Given the description of an element on the screen output the (x, y) to click on. 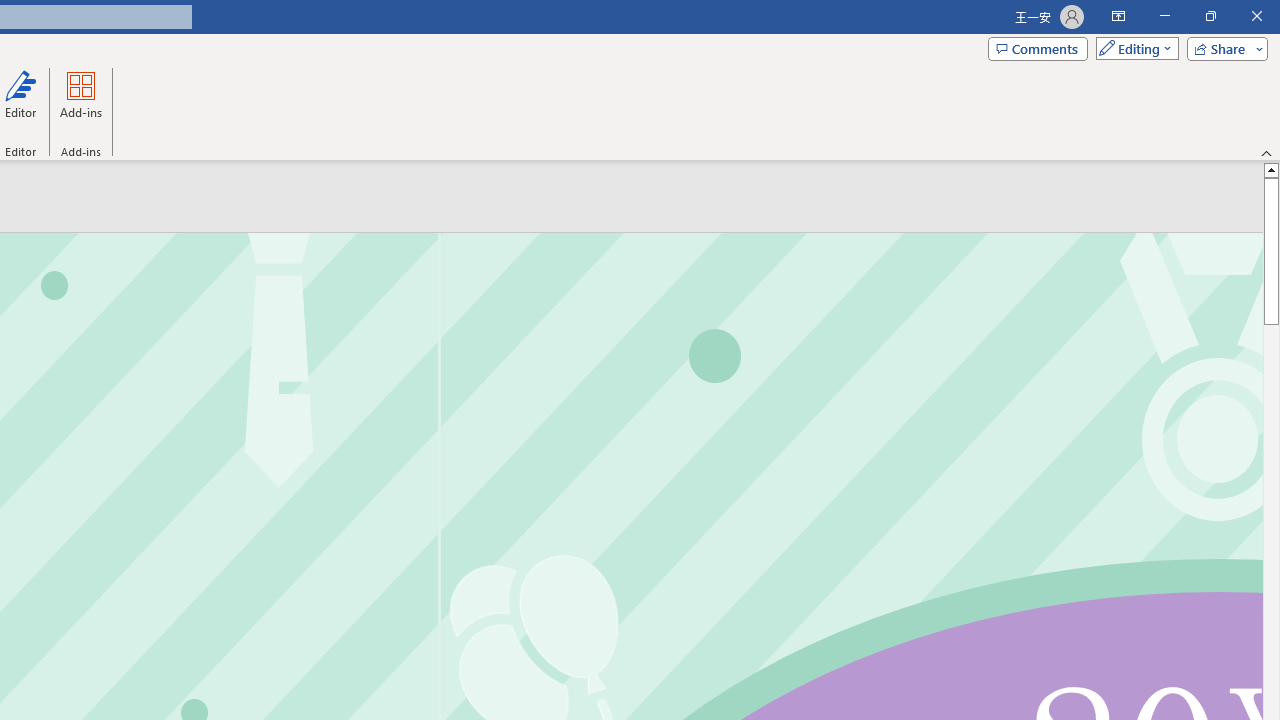
Line up (1271, 169)
